Given the description of an element on the screen output the (x, y) to click on. 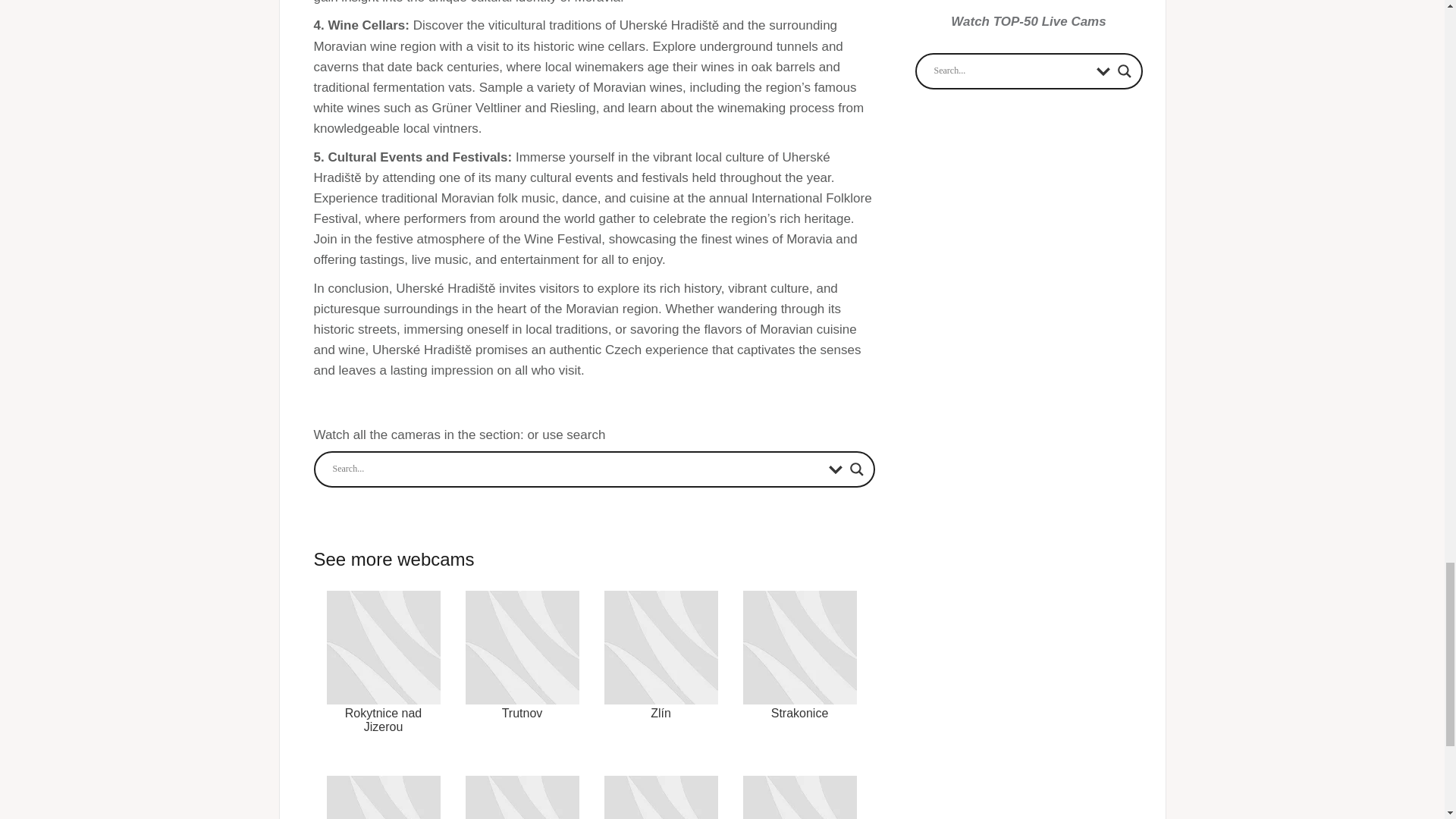
Harrachov (383, 790)
Prague (660, 790)
Olomouc (521, 790)
Karlovy Vary (799, 790)
